Given the description of an element on the screen output the (x, y) to click on. 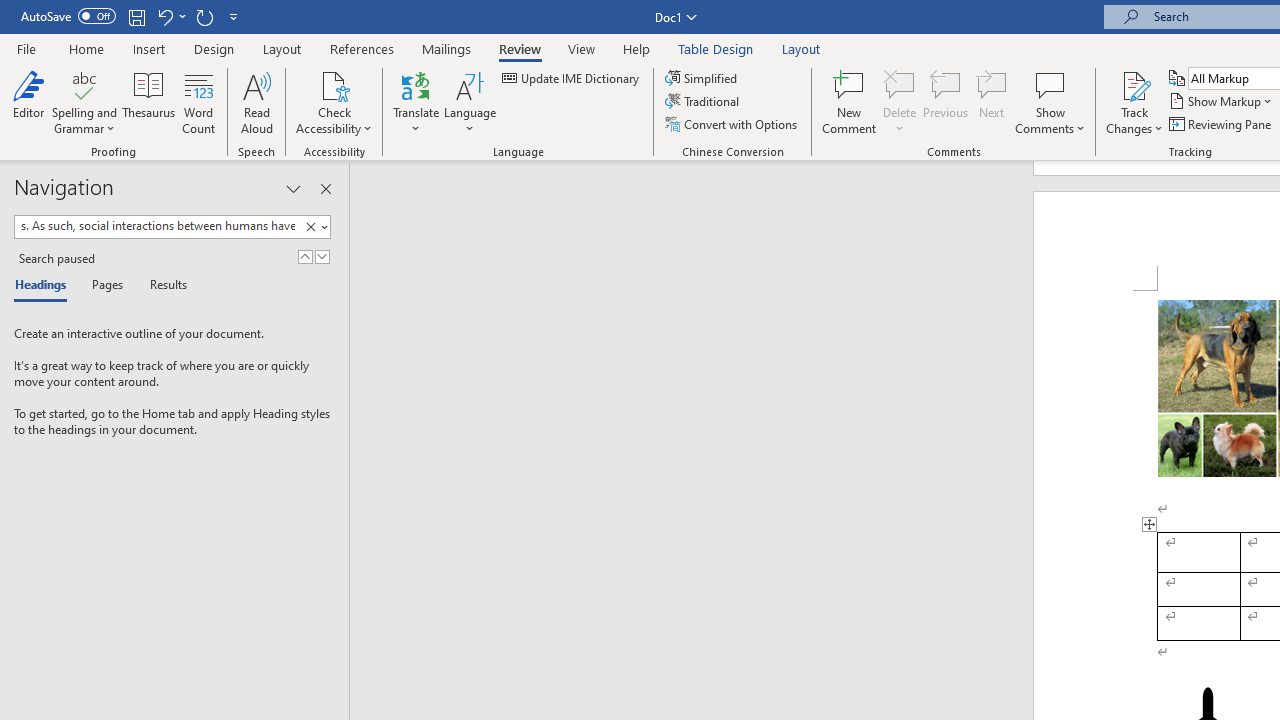
Thesaurus... (148, 102)
Language (470, 102)
Next Result (322, 256)
Reviewing Pane (1221, 124)
Traditional (703, 101)
Read Aloud (256, 102)
Show Comments (1050, 84)
Repeat Style (204, 15)
